Given the description of an element on the screen output the (x, y) to click on. 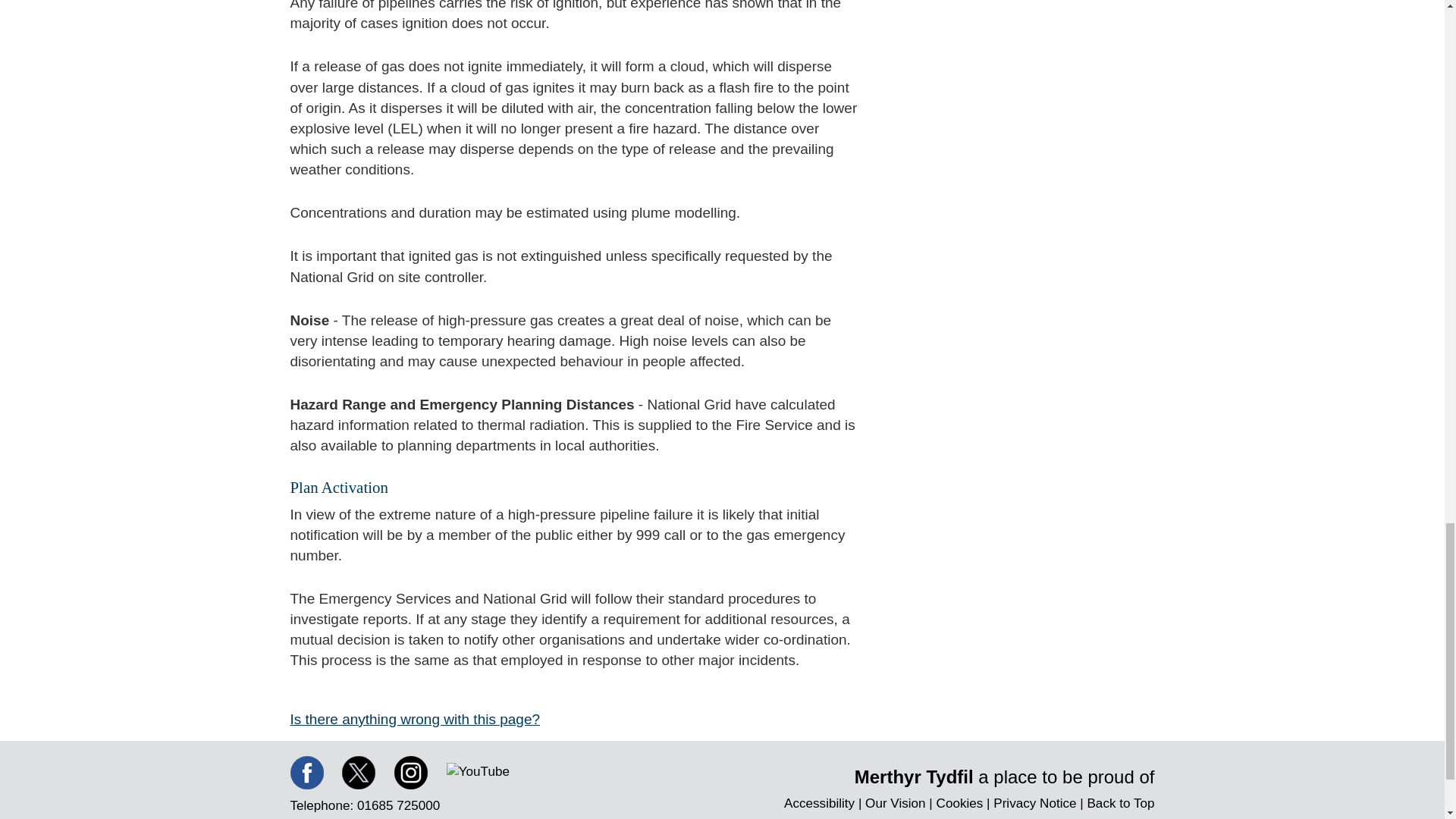
Privacy Notice (1033, 802)
Cookies (960, 802)
Back to Top (1120, 802)
Accessibility (819, 802)
Is there anything wrong with this page? (414, 719)
Our Vision (895, 802)
Back to Top (1120, 802)
